Given the description of an element on the screen output the (x, y) to click on. 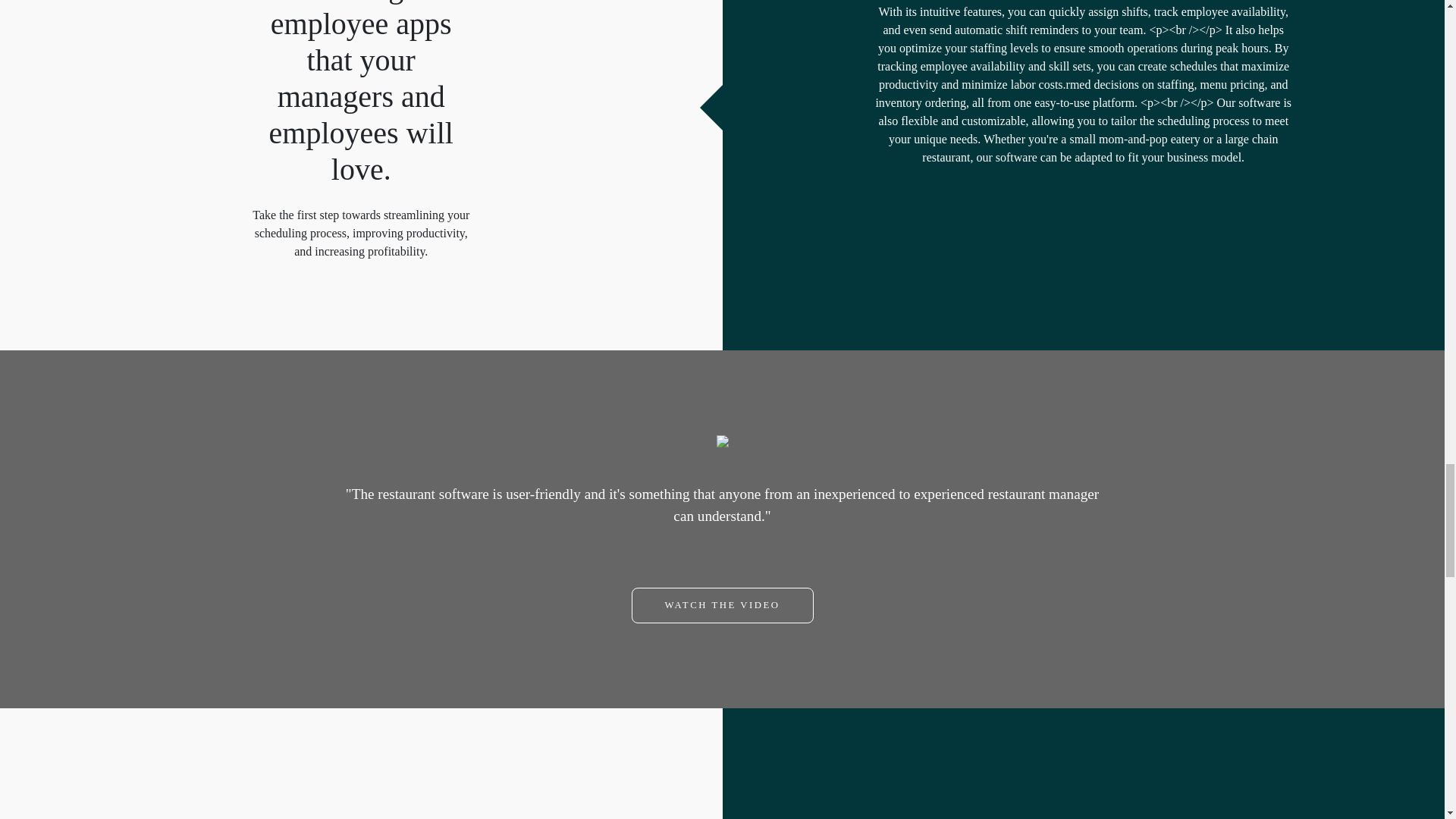
WATCH THE VIDEO (721, 605)
